Given the description of an element on the screen output the (x, y) to click on. 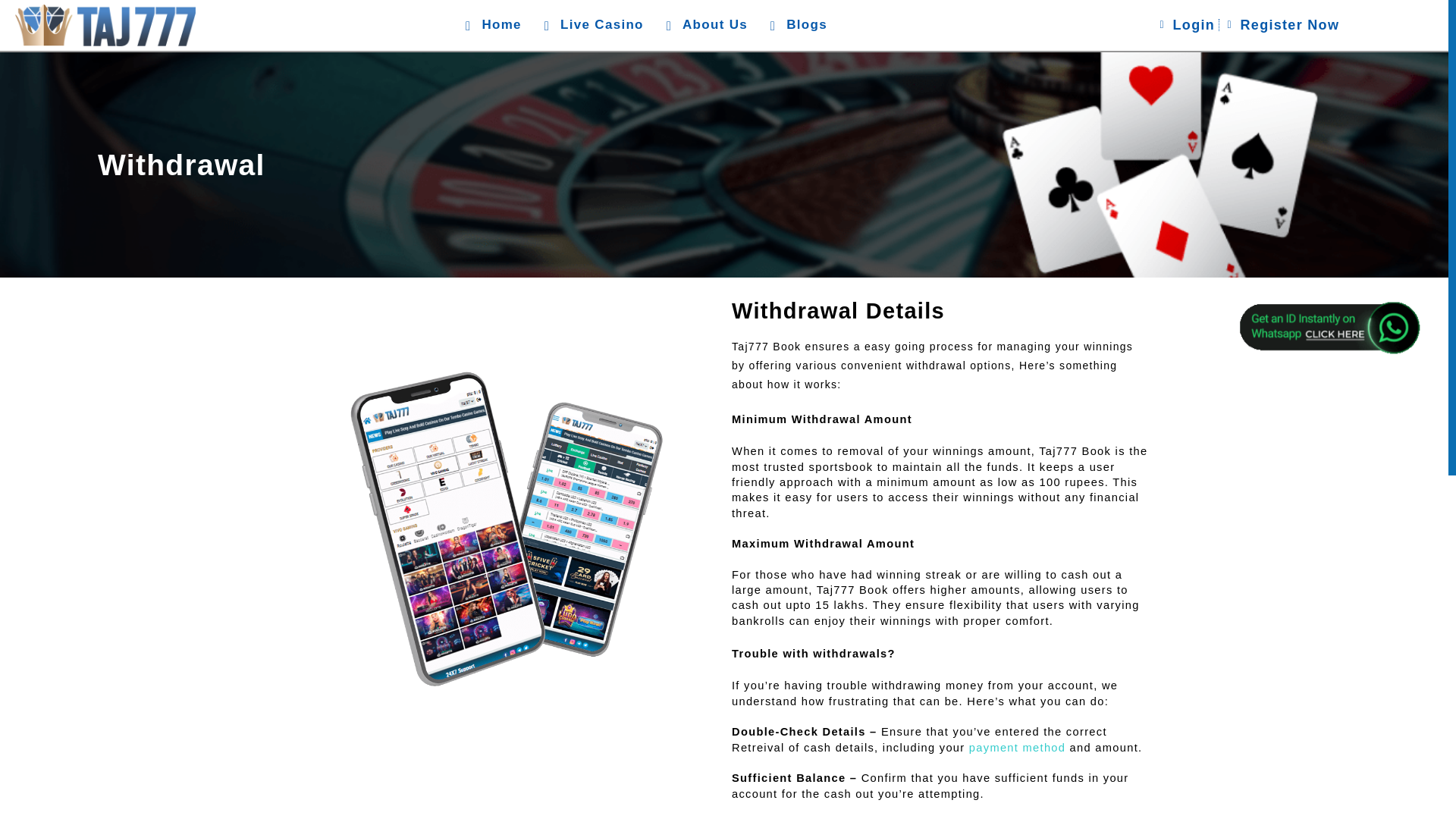
Blogs (796, 24)
Home (490, 24)
About Us (704, 24)
payment method (1017, 747)
Live Casino (590, 24)
Register Now (1281, 24)
Login (1185, 24)
